Given the description of an element on the screen output the (x, y) to click on. 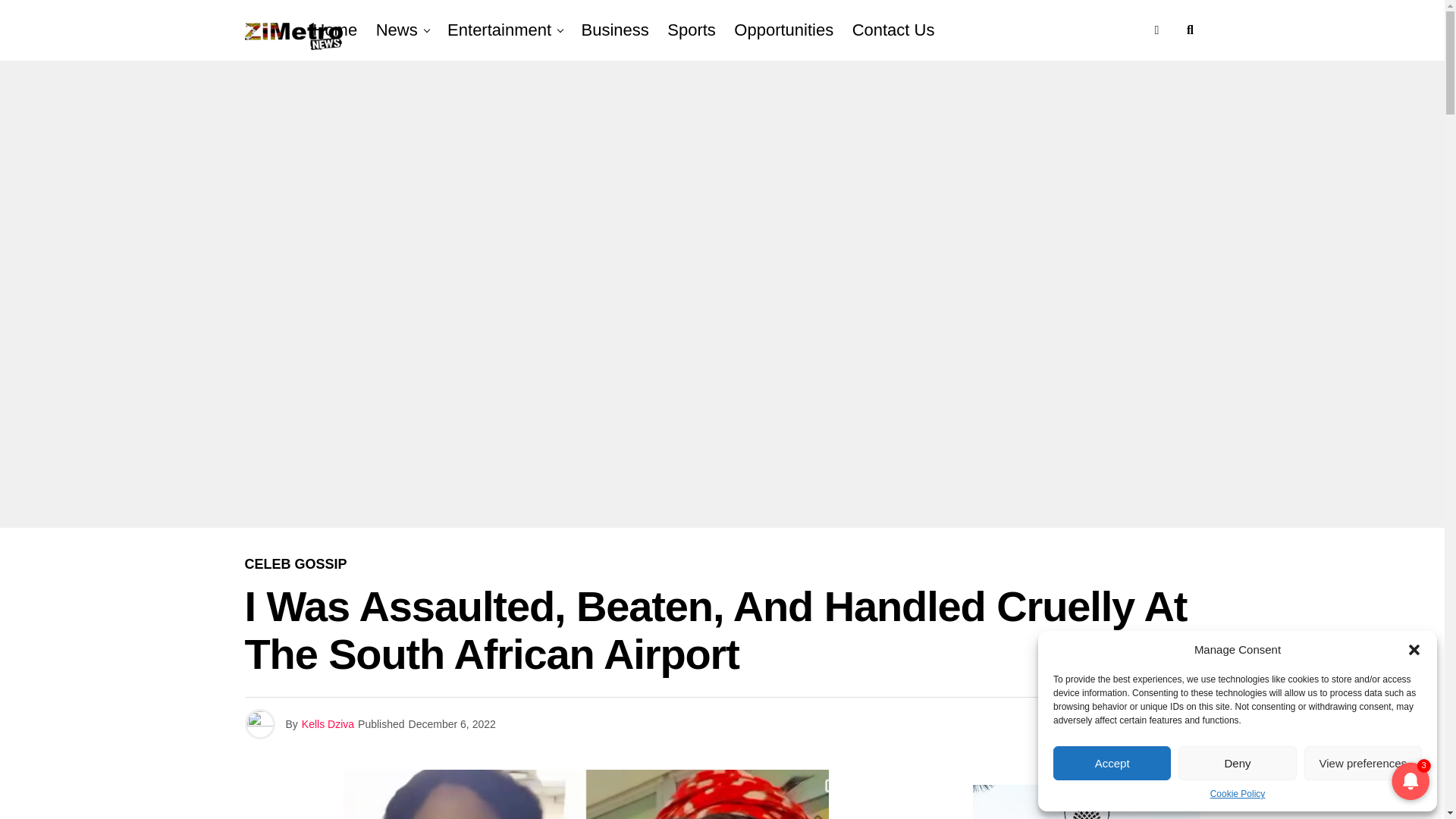
Accept (1111, 763)
Posts by Kells Dziva (327, 724)
Entertainment (499, 30)
News (396, 30)
Kells Dziva (327, 724)
Cookie Policy (1237, 793)
Share on Facebook (1061, 722)
View preferences (1363, 763)
Deny (1236, 763)
Tweet This Post (1093, 722)
Contact Us (893, 30)
CELEB GOSSIP (295, 563)
Sports (691, 30)
Business (614, 30)
